Given the description of an element on the screen output the (x, y) to click on. 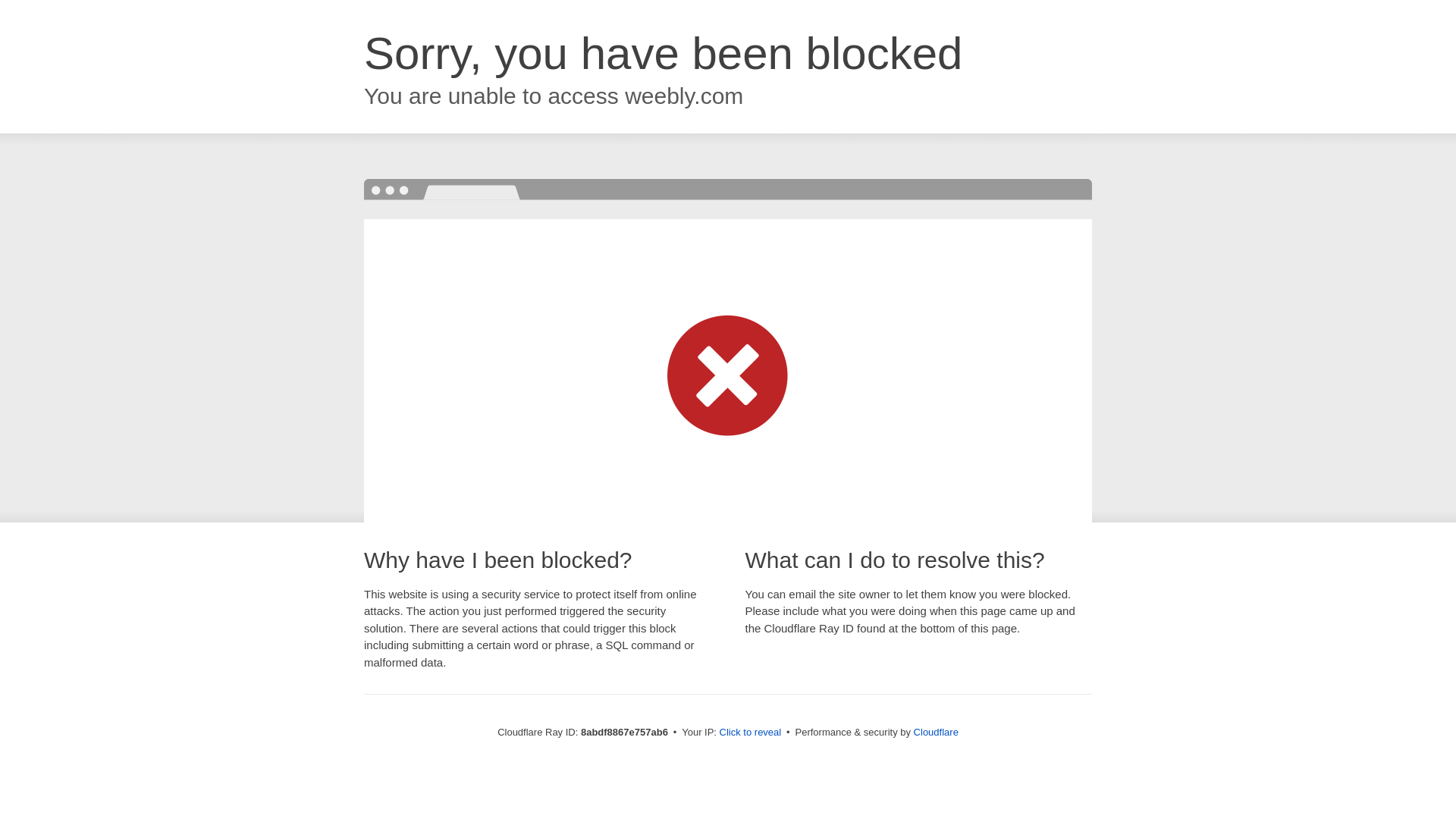
Cloudflare (936, 731)
Click to reveal (750, 732)
